Given the description of an element on the screen output the (x, y) to click on. 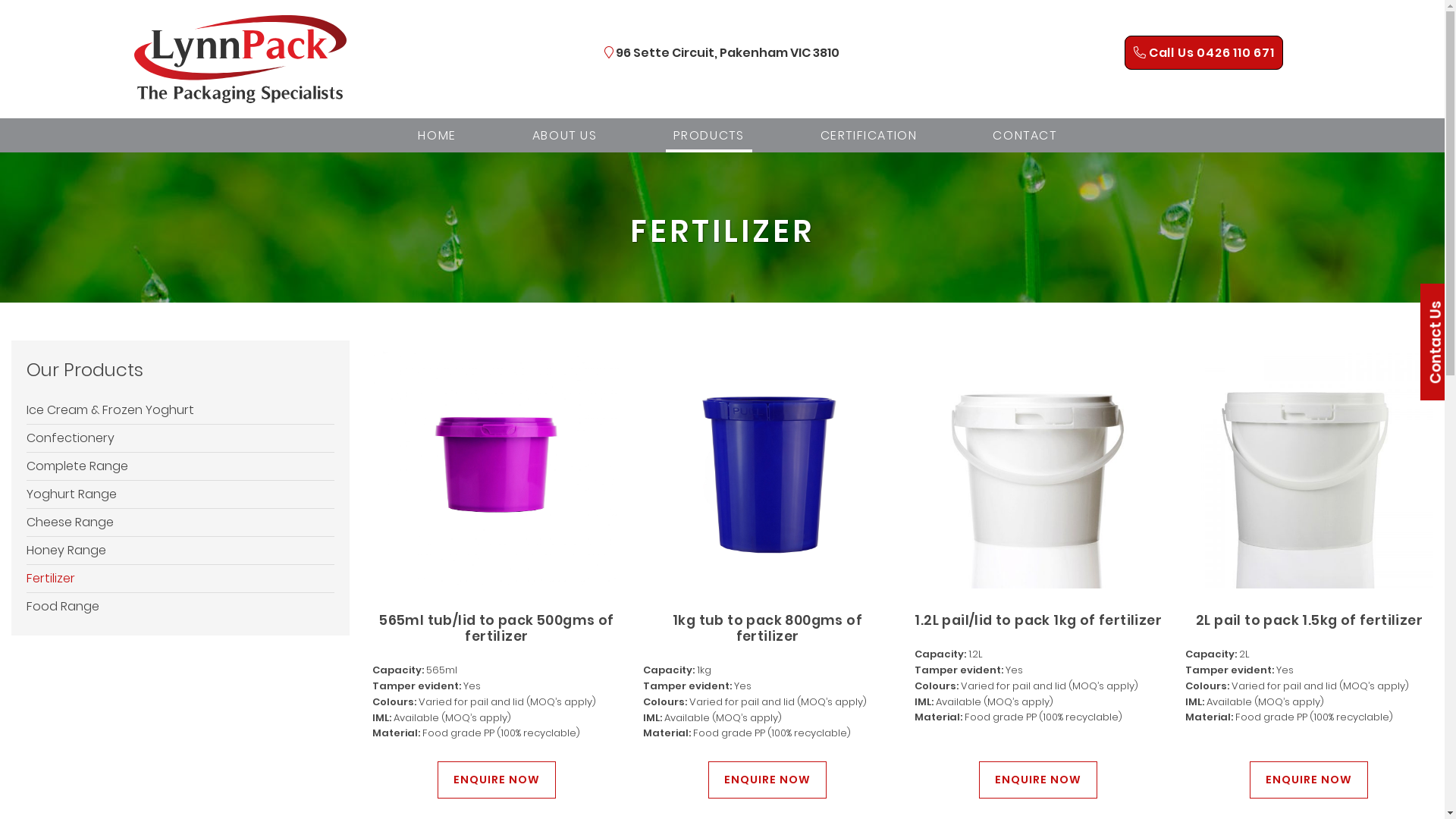
ENQUIRE NOW Element type: text (496, 779)
HOME Element type: text (436, 135)
Call Us 0426 110 671 Element type: text (1203, 52)
Ice Cream & Frozen Yoghurt Element type: text (180, 409)
CERTIFICATION Element type: text (868, 135)
ABOUT US Element type: text (564, 135)
Cheese Range Element type: text (180, 522)
Fertilizer Element type: text (180, 578)
Honey Range Element type: text (180, 550)
Food Range Element type: text (180, 606)
ENQUIRE NOW Element type: text (767, 779)
ENQUIRE NOW Element type: text (1038, 779)
Complete Range Element type: text (180, 466)
PRODUCTS Element type: text (708, 135)
Confectionery Element type: text (180, 437)
Yoghurt Range Element type: text (180, 494)
ENQUIRE NOW Element type: text (1308, 779)
CONTACT Element type: text (1024, 135)
